Given the description of an element on the screen output the (x, y) to click on. 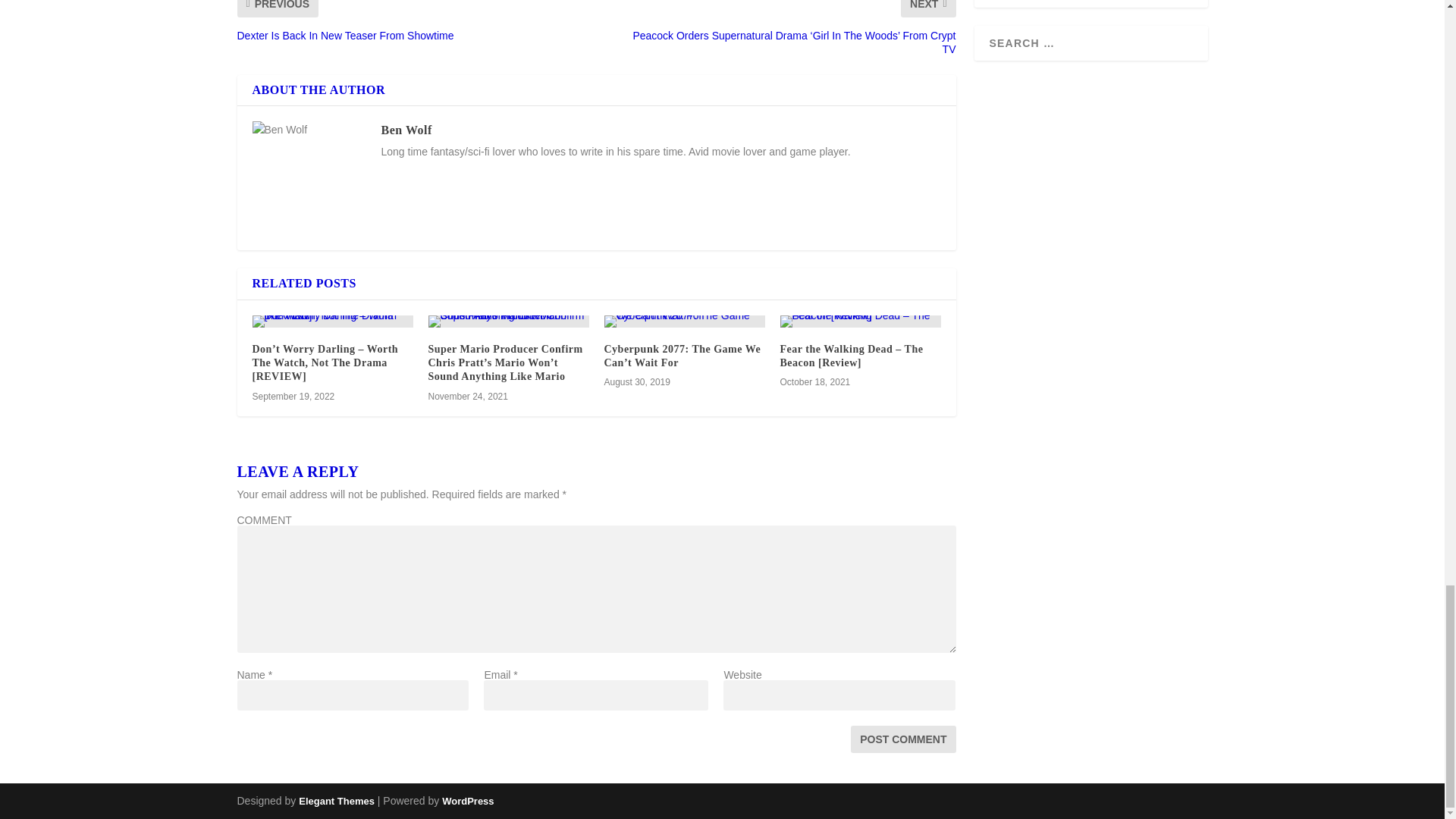
Ben Wolf (405, 129)
Post Comment (902, 738)
View all posts by Ben Wolf (405, 129)
